Given the description of an element on the screen output the (x, y) to click on. 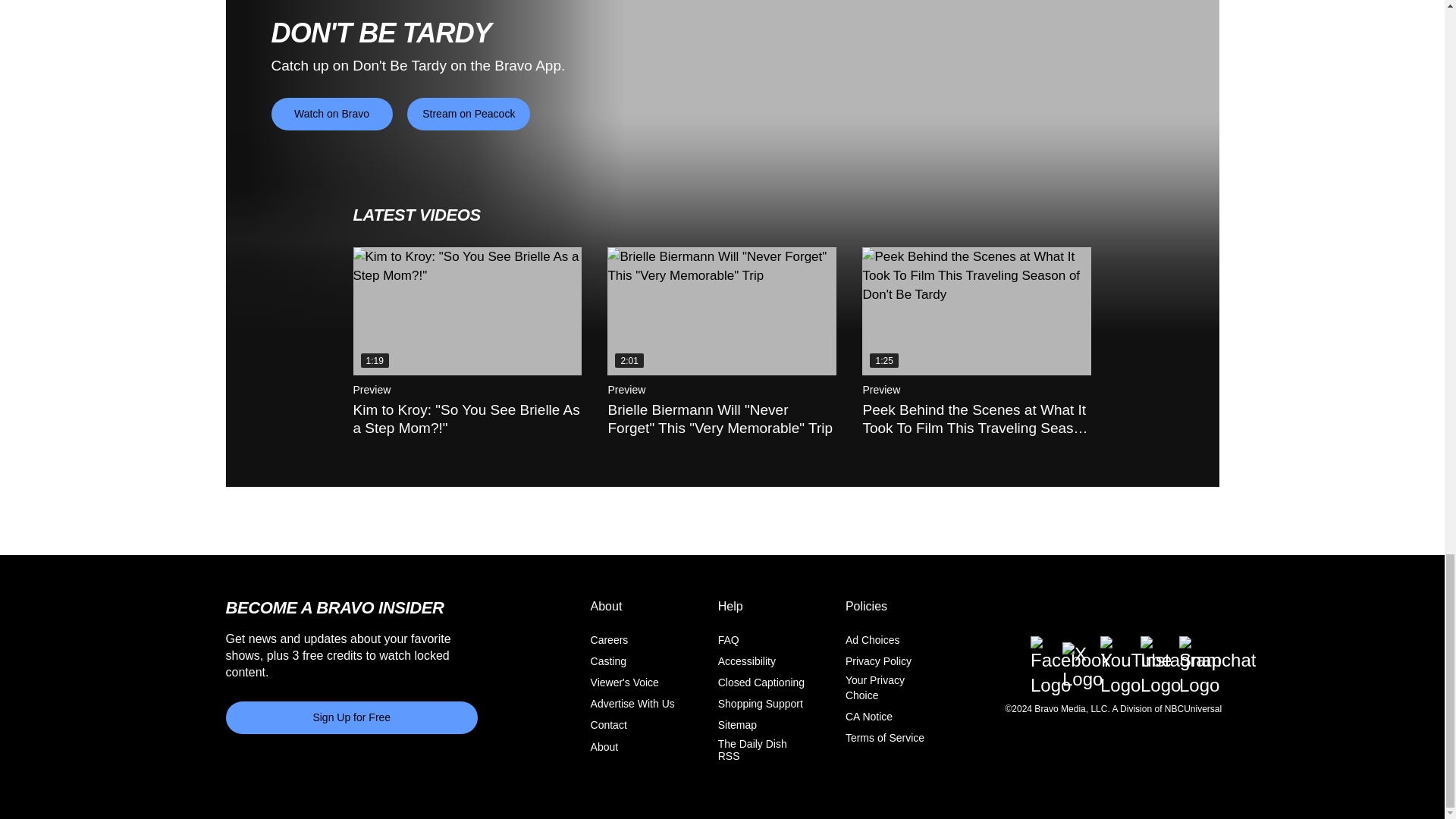
Advertise With Us (633, 704)
Kim to Kroy: "So You See Brielle As a Step Mom?!" (467, 311)
